Given the description of an element on the screen output the (x, y) to click on. 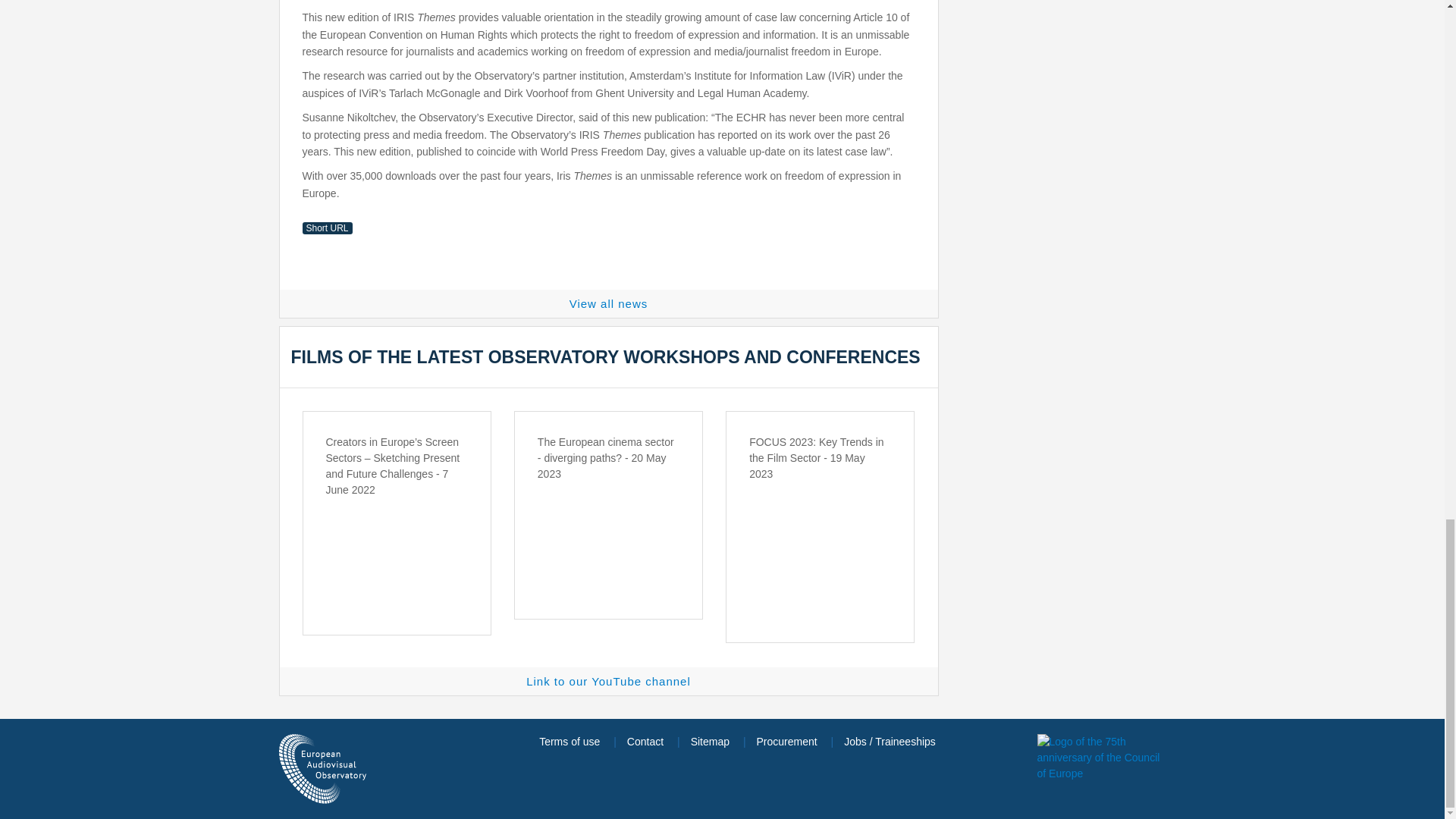
YouTube video player (820, 536)
YouTube video player (608, 536)
